Given the description of an element on the screen output the (x, y) to click on. 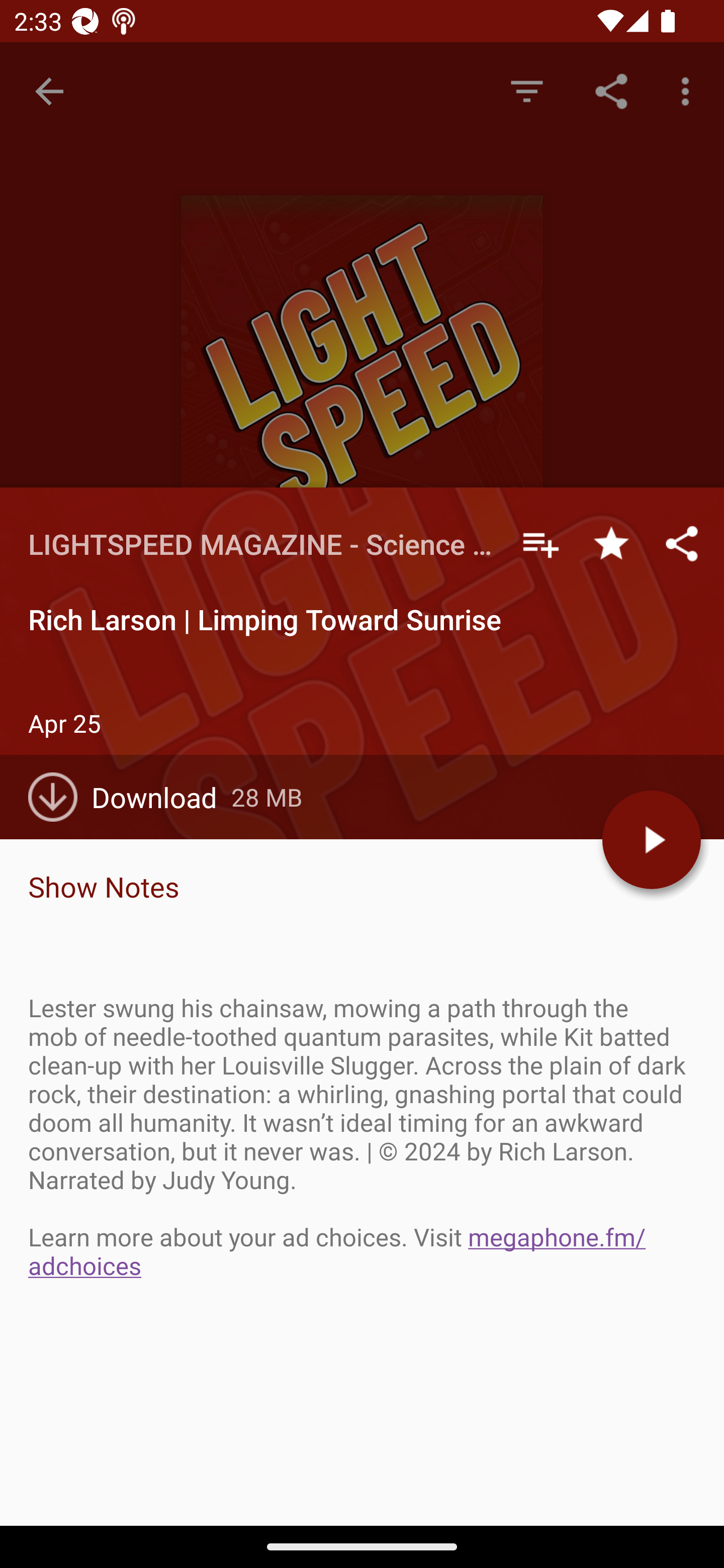
Download (129, 797)
